Given the description of an element on the screen output the (x, y) to click on. 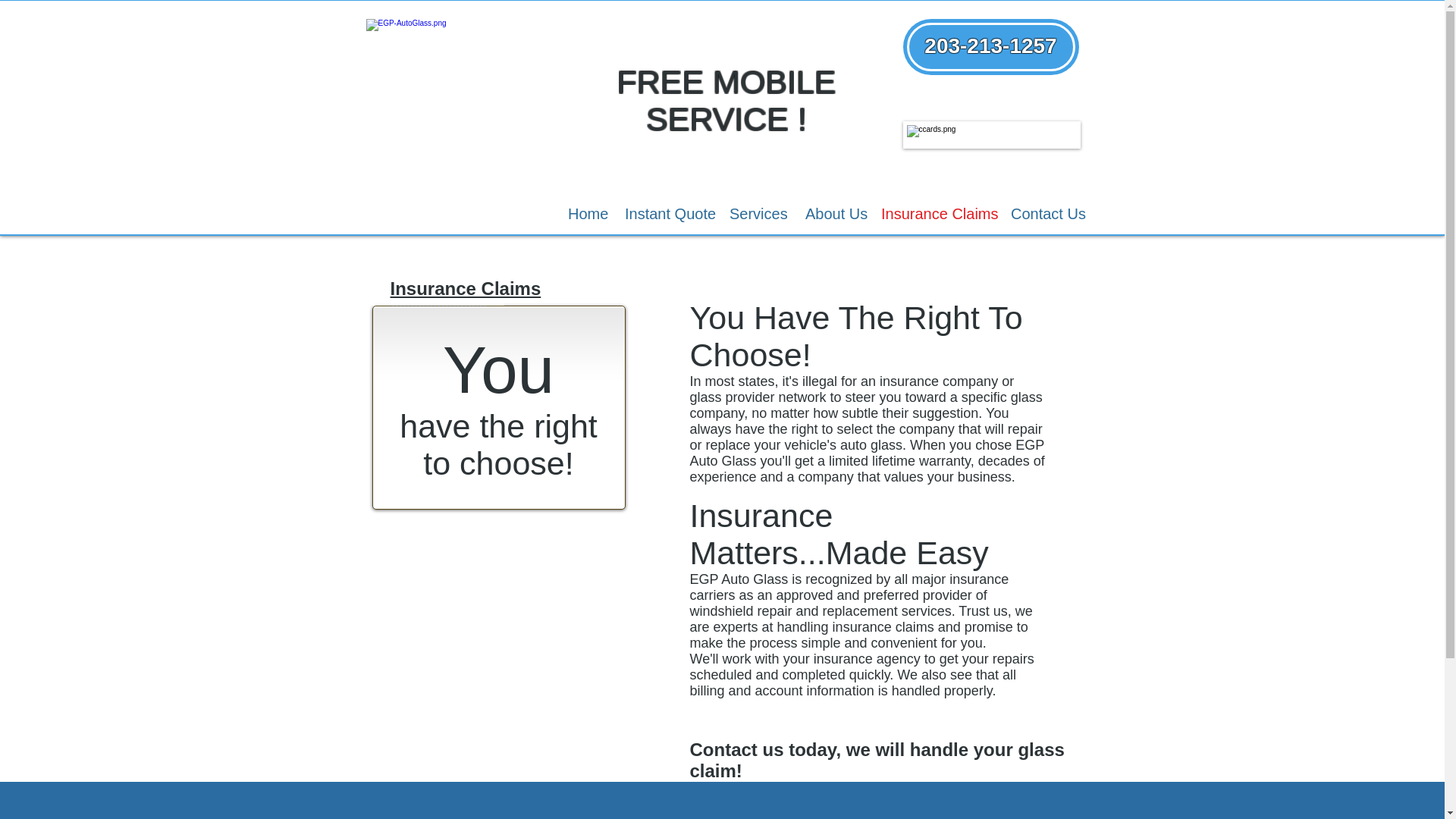
Instant Quote (664, 213)
Home (584, 213)
About Us (831, 213)
Insurance Claims (933, 213)
Contact Us (1042, 213)
